Given the description of an element on the screen output the (x, y) to click on. 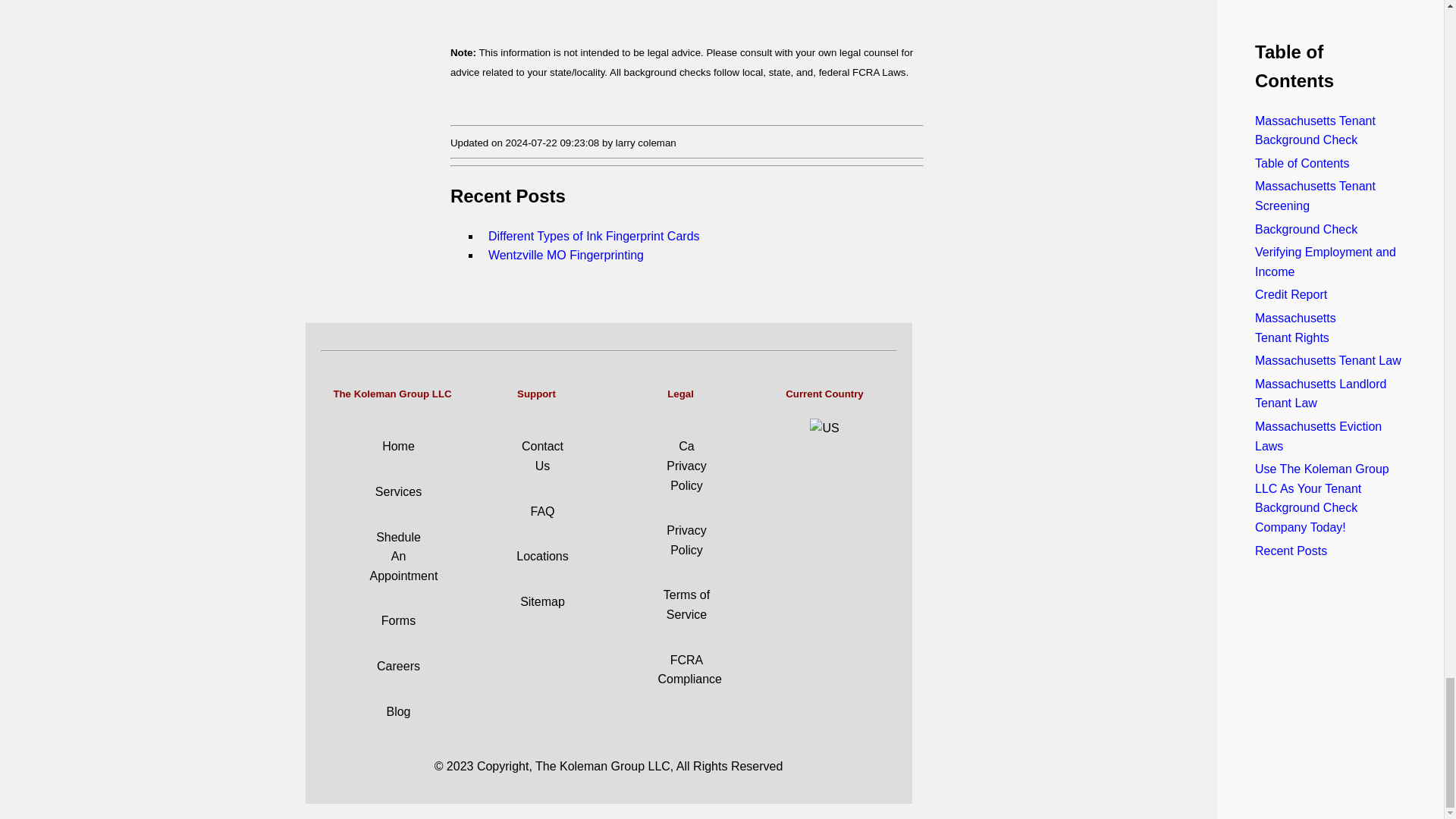
Privacy Policy (686, 540)
Careers (398, 666)
Shedule An Appointment (403, 556)
Contact Us (542, 455)
Services (398, 491)
Locations (542, 555)
FAQ (541, 511)
Blog (397, 711)
FCRA Compliance (690, 669)
Home (397, 445)
